Given the description of an element on the screen output the (x, y) to click on. 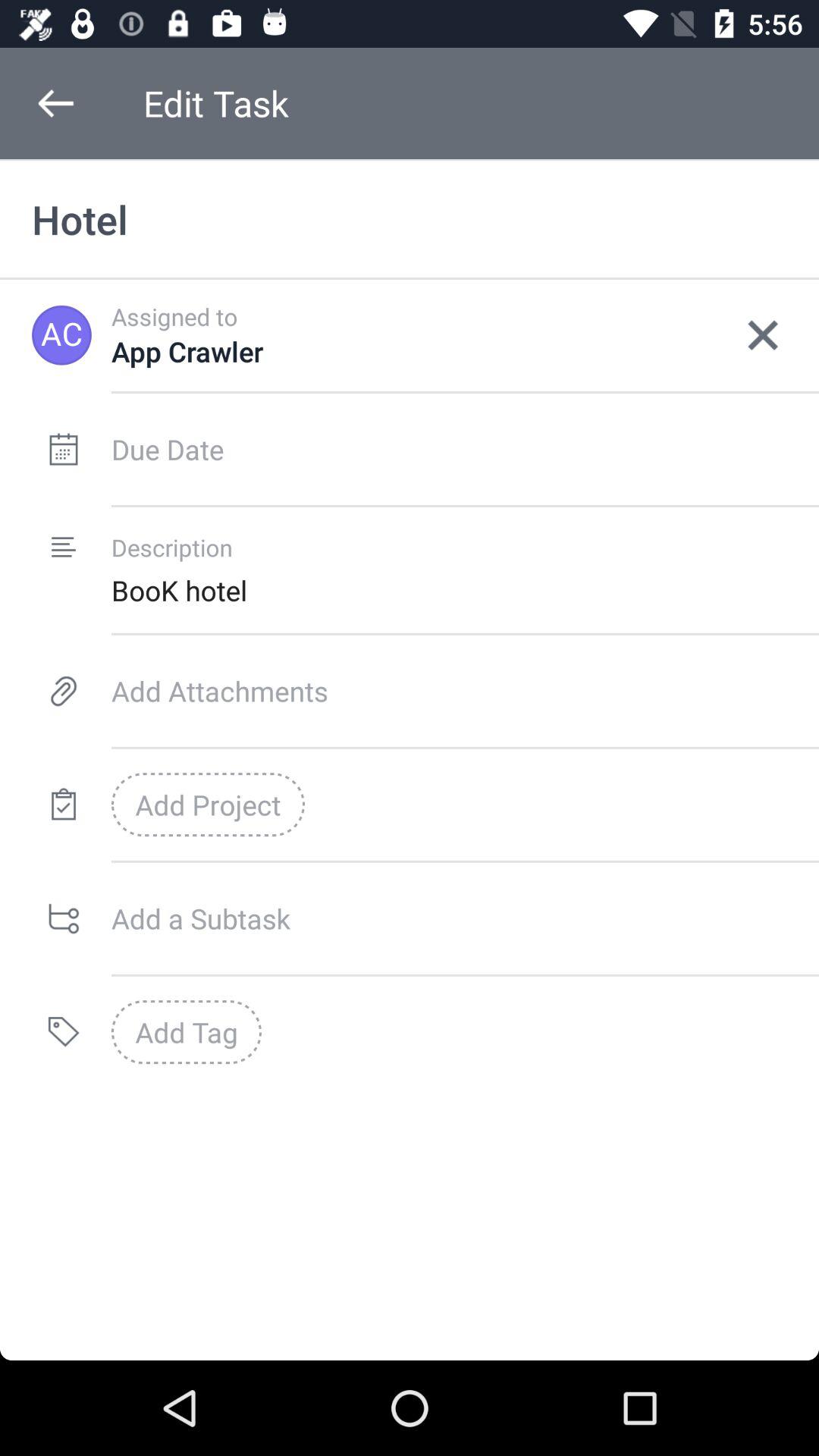
scroll until add project item (207, 804)
